Given the description of an element on the screen output the (x, y) to click on. 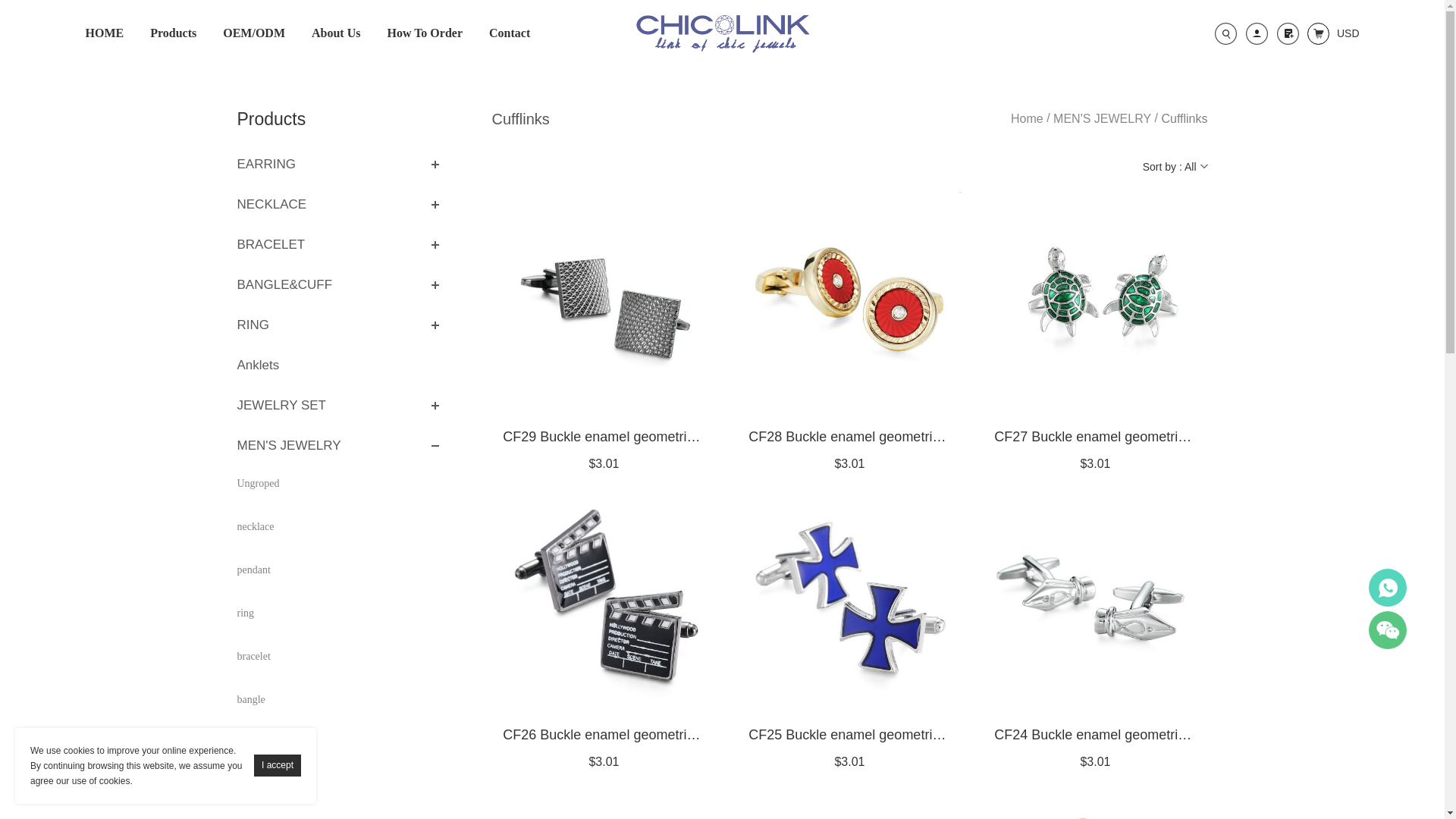
I accept (277, 765)
